Given the description of an element on the screen output the (x, y) to click on. 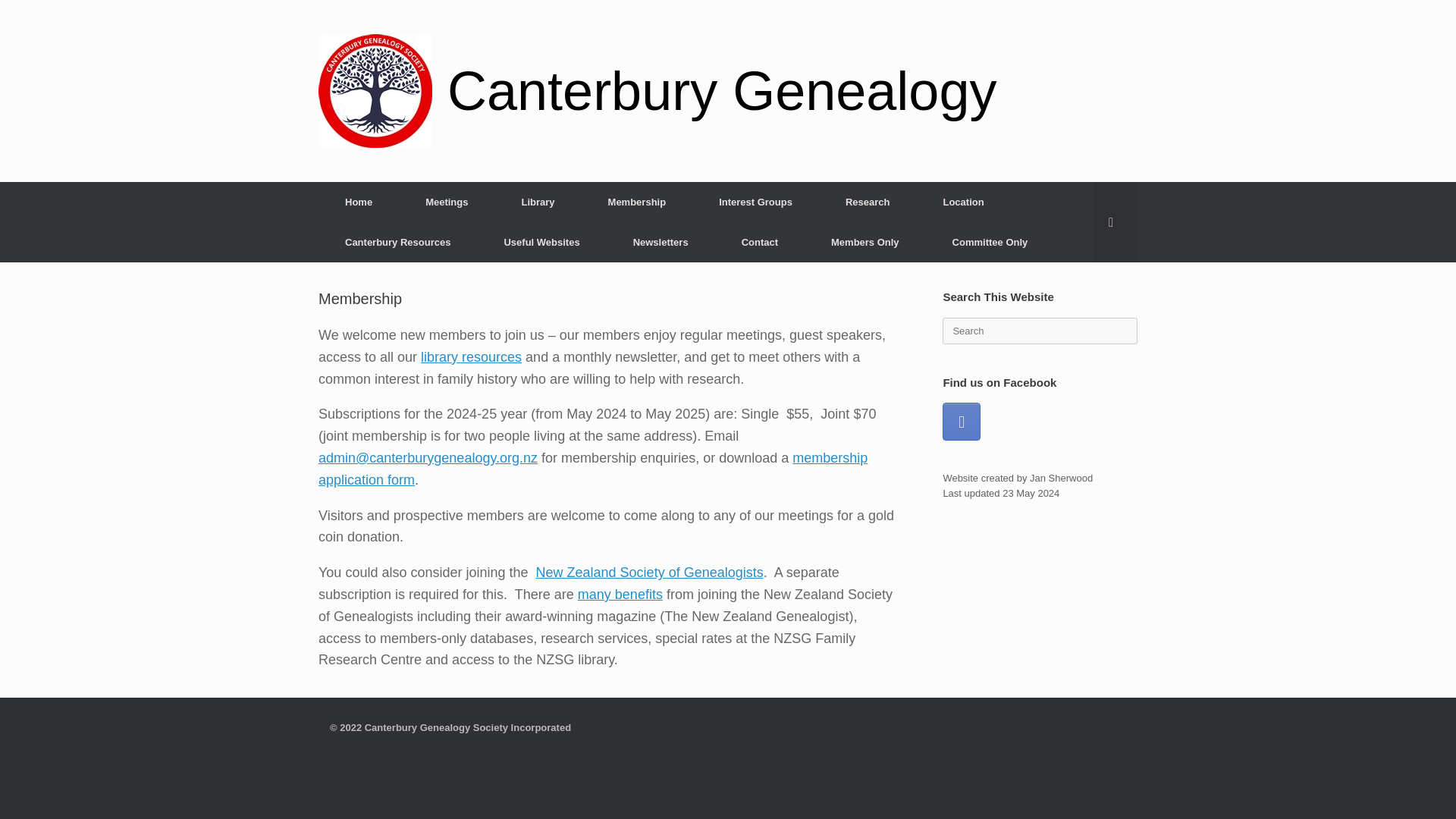
Research (867, 201)
Contact (759, 241)
Interest Groups (755, 201)
library resources (470, 356)
Library (537, 201)
Members Only (865, 241)
Canterbury Genealogy (656, 91)
Meetings (446, 201)
Newsletters (660, 241)
Home (358, 201)
